Given the description of an element on the screen output the (x, y) to click on. 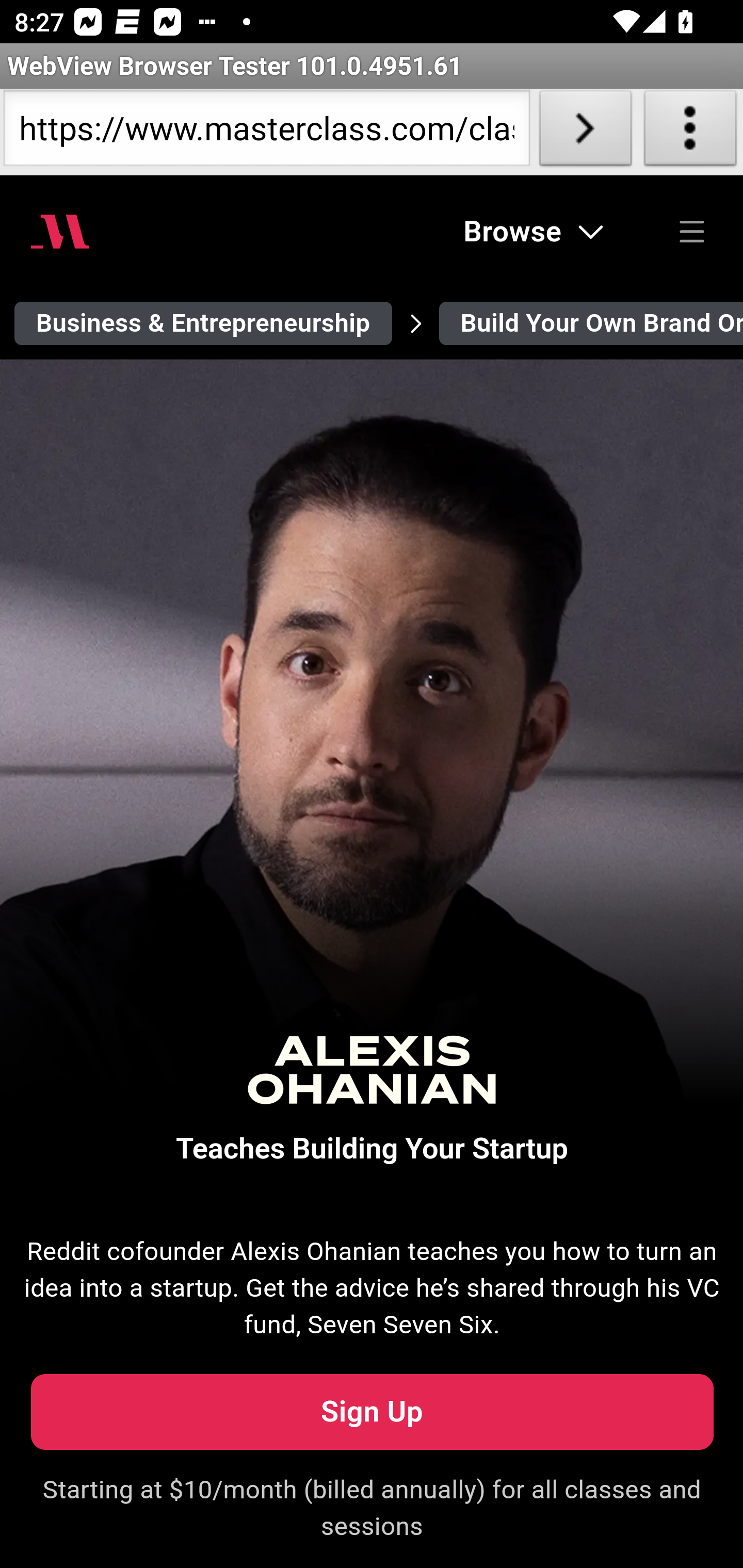
Load URL (585, 132)
About WebView (690, 132)
Browse (533, 230)
MasterClass logo (59, 230)
Business & Entrepreneurship (203, 323)
Build Your Own Brand Or Start Up (589, 323)
Sign Up (371, 1411)
